Given the description of an element on the screen output the (x, y) to click on. 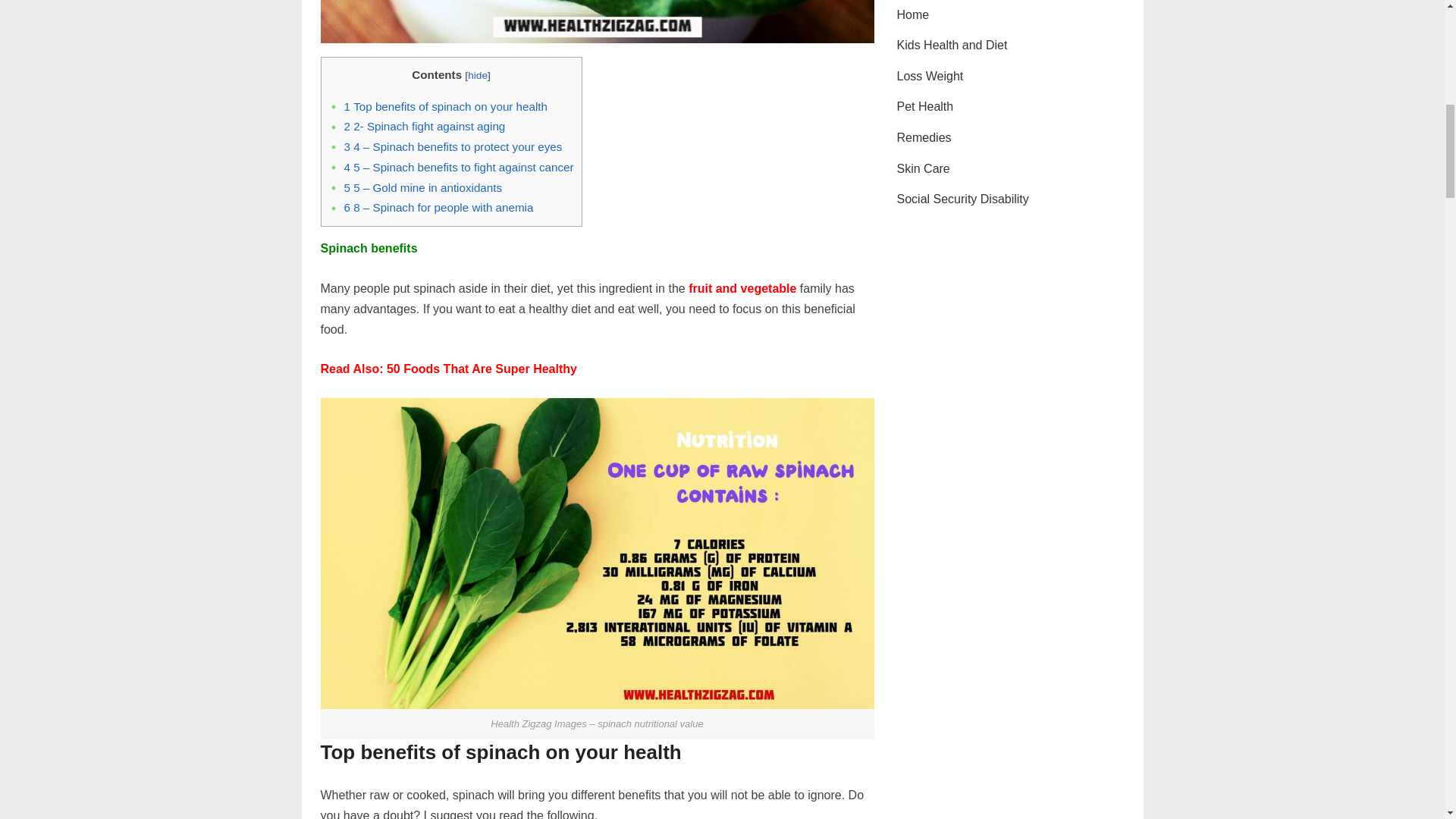
1 Top benefits of spinach on your health (445, 106)
2 2- Spinach fight against aging (424, 125)
fruit and vegetable (742, 287)
hide (477, 75)
